Given the description of an element on the screen output the (x, y) to click on. 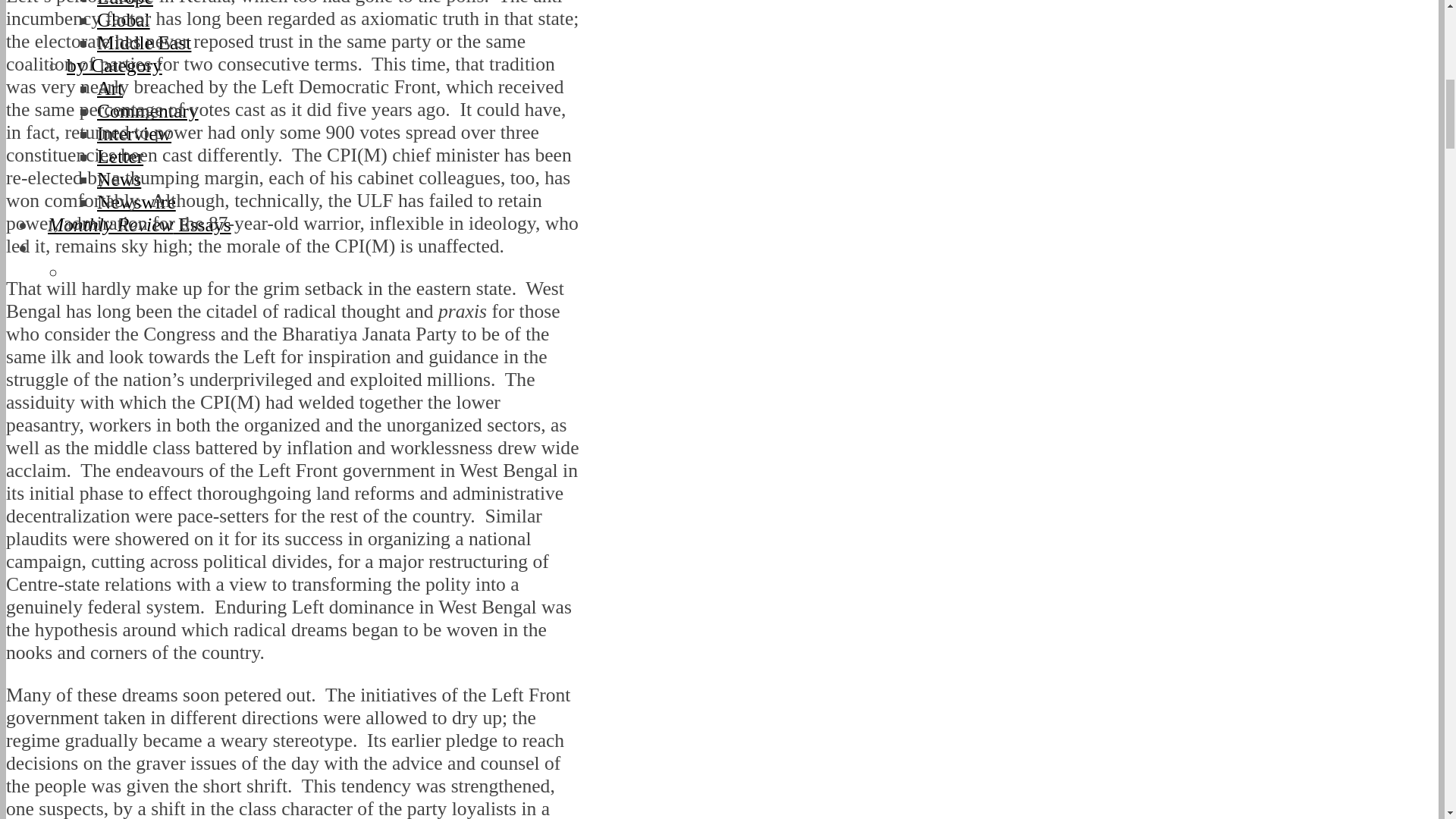
Global (123, 20)
Middle East (143, 42)
Europe (124, 4)
by Category (113, 65)
Commentary (147, 110)
Art (109, 87)
